Given the description of an element on the screen output the (x, y) to click on. 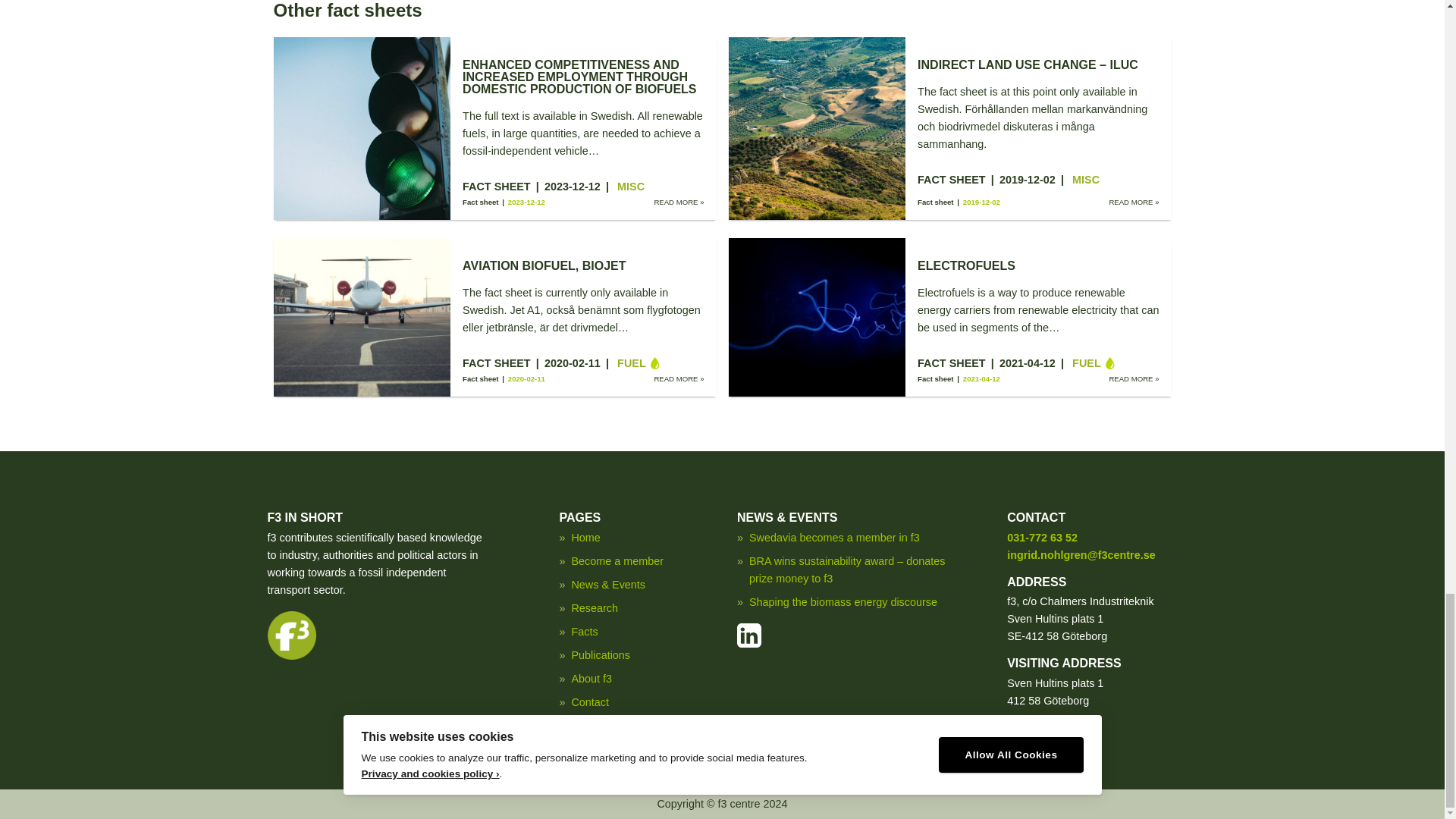
Contact (589, 702)
Publications (600, 654)
Become a member (616, 561)
Swedavia becomes a member in f3 (834, 537)
Shaping the biomass energy discourse (843, 602)
Home (584, 537)
Research (593, 607)
Facts (583, 631)
About f3 (590, 678)
Privacy policy (603, 725)
031-772 63 52 (1042, 537)
